Given the description of an element on the screen output the (x, y) to click on. 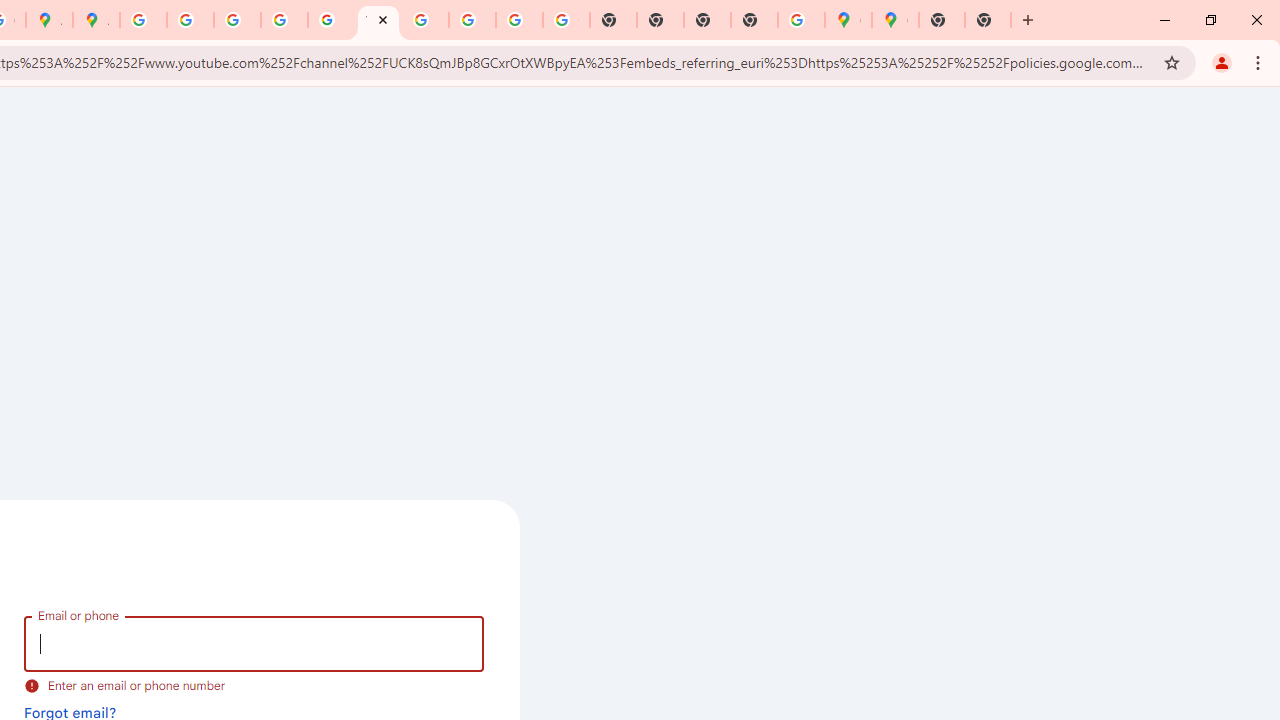
New Tab (942, 20)
Email or phone (253, 643)
Privacy Help Center - Policies Help (237, 20)
New Tab (754, 20)
New Tab (988, 20)
